Given the description of an element on the screen output the (x, y) to click on. 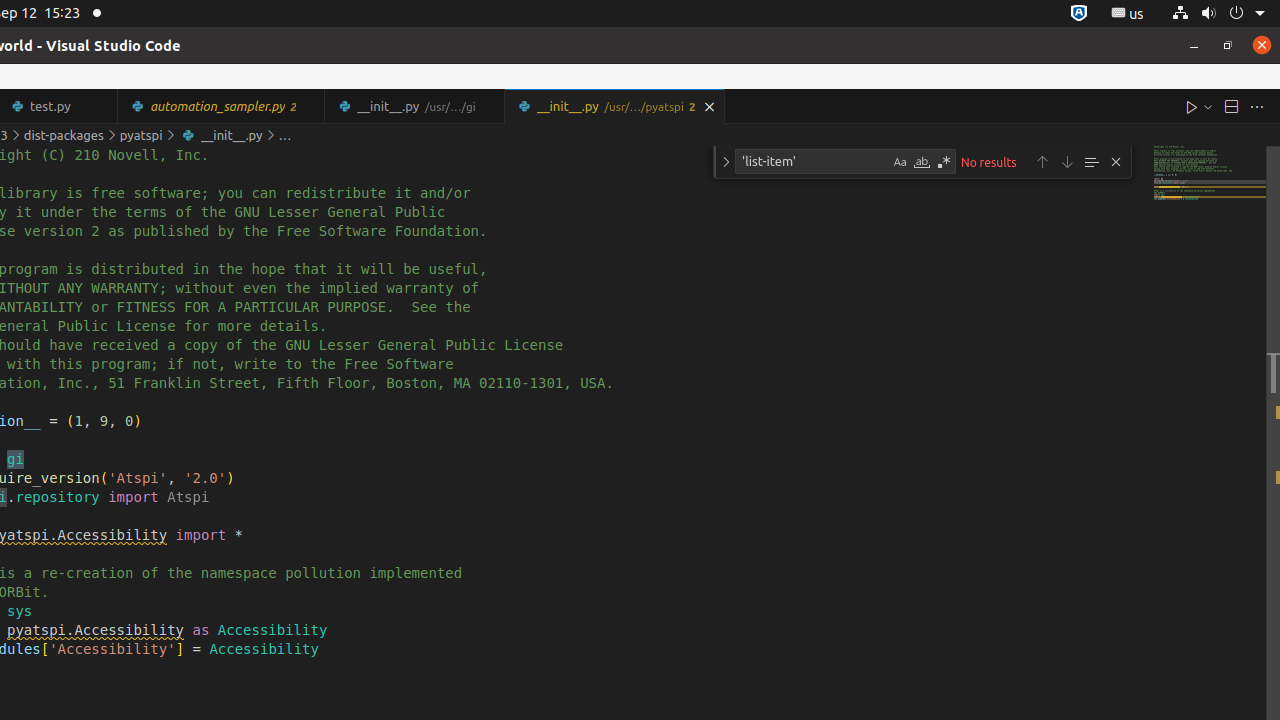
Toggle Replace Element type: push-button (726, 162)
Use Regular Expression (Alt+R) Element type: check-box (944, 162)
